Given the description of an element on the screen output the (x, y) to click on. 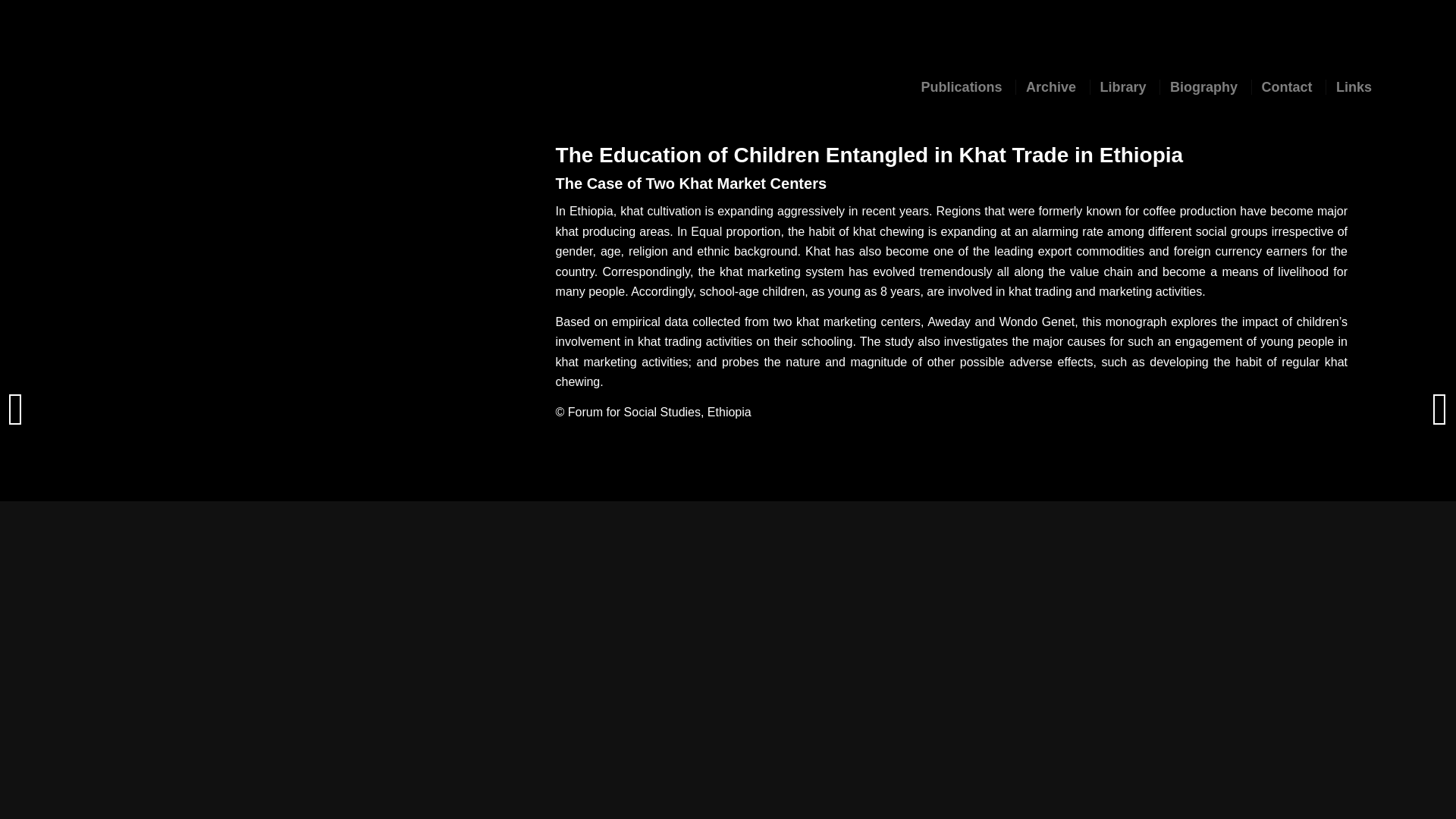
Contact (1286, 86)
Library (1122, 86)
Links (1352, 86)
Publications (961, 86)
Archive (1050, 86)
Biography (1202, 86)
